Given the description of an element on the screen output the (x, y) to click on. 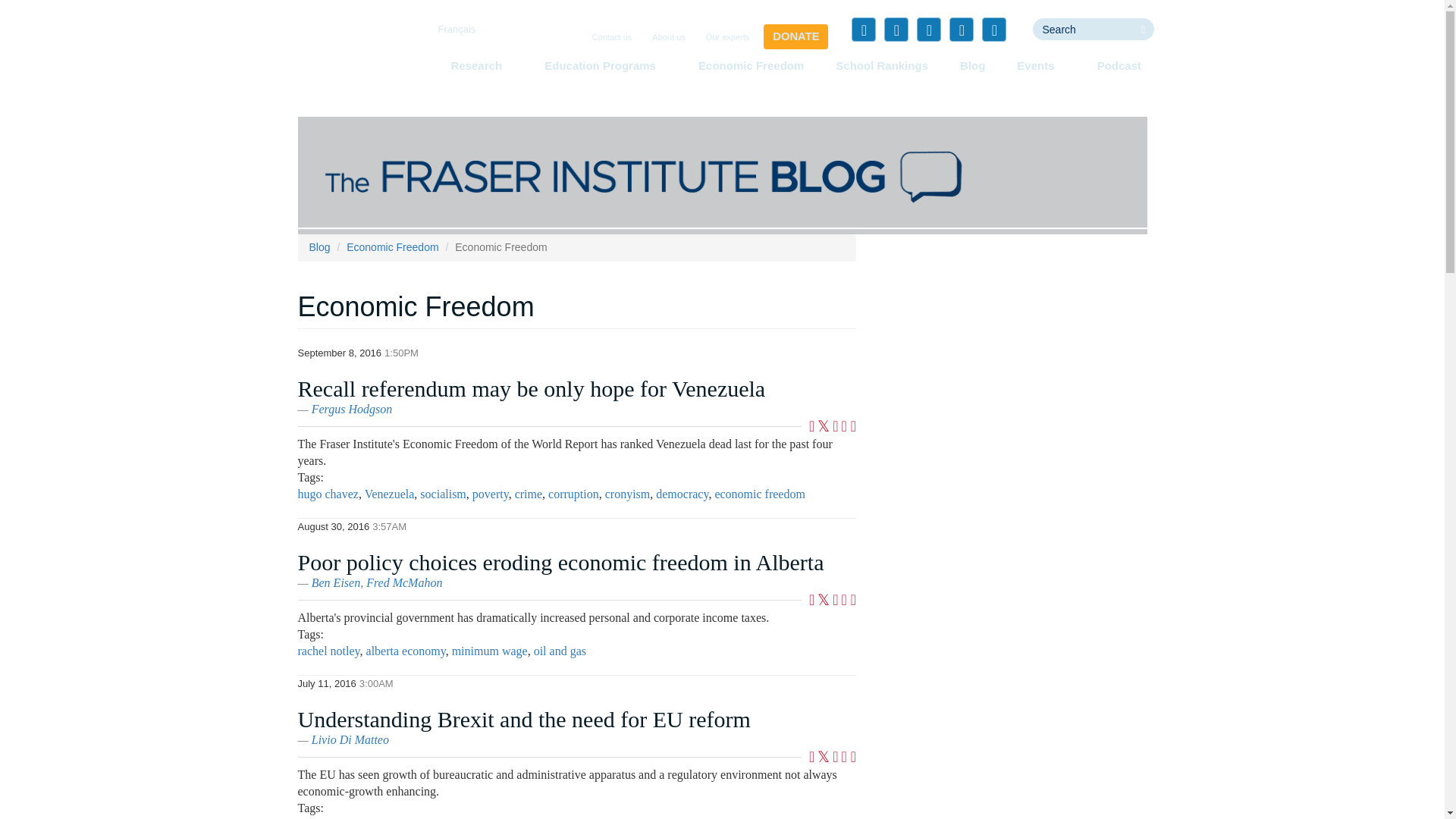
Instagram (993, 29)
Contact us (612, 37)
Research (481, 65)
Enter the terms you wish to search for. (1082, 29)
Fraser Forum (722, 175)
LinkedIn (928, 29)
YouTube (961, 29)
About us (668, 37)
Facebook (863, 29)
